Given the description of an element on the screen output the (x, y) to click on. 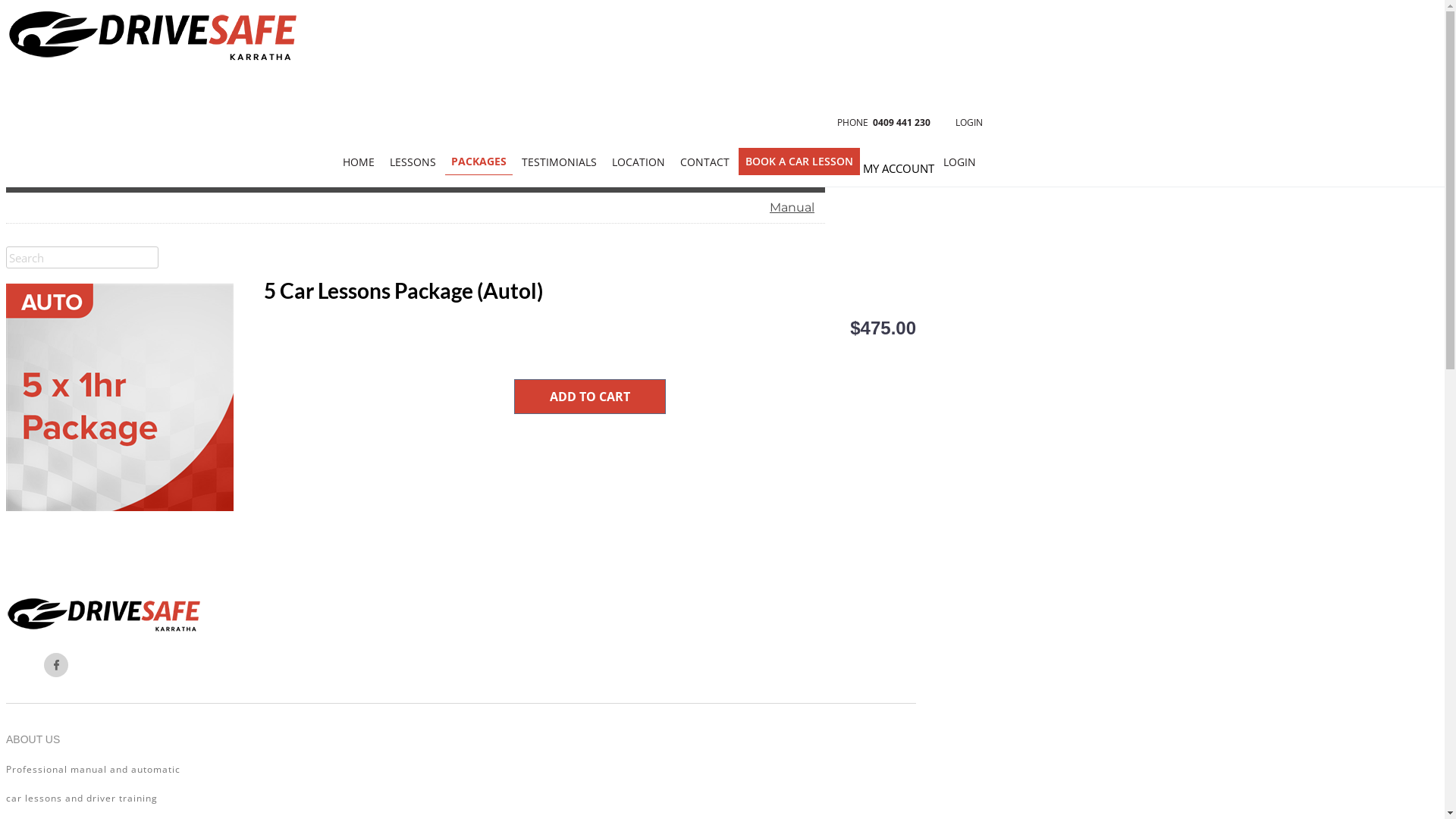
Auto Element type: text (411, 177)
PHONE  0409 441 230 Element type: text (883, 122)
Manual Element type: text (415, 207)
LOCATION Element type: text (638, 162)
BOOK NOW Element type: text (500, 121)
CONTACT Element type: text (704, 162)
TESTIMONIALS Element type: text (558, 162)
LOGIN Element type: text (968, 122)
All Element type: text (415, 146)
Add to Cart Element type: text (589, 396)
PACKAGES Element type: text (478, 161)
LOGIN Element type: text (959, 162)
BOOK A CAR LESSON Element type: text (798, 161)
LESSONS Element type: text (412, 162)
HOME Element type: text (358, 162)
